Given the description of an element on the screen output the (x, y) to click on. 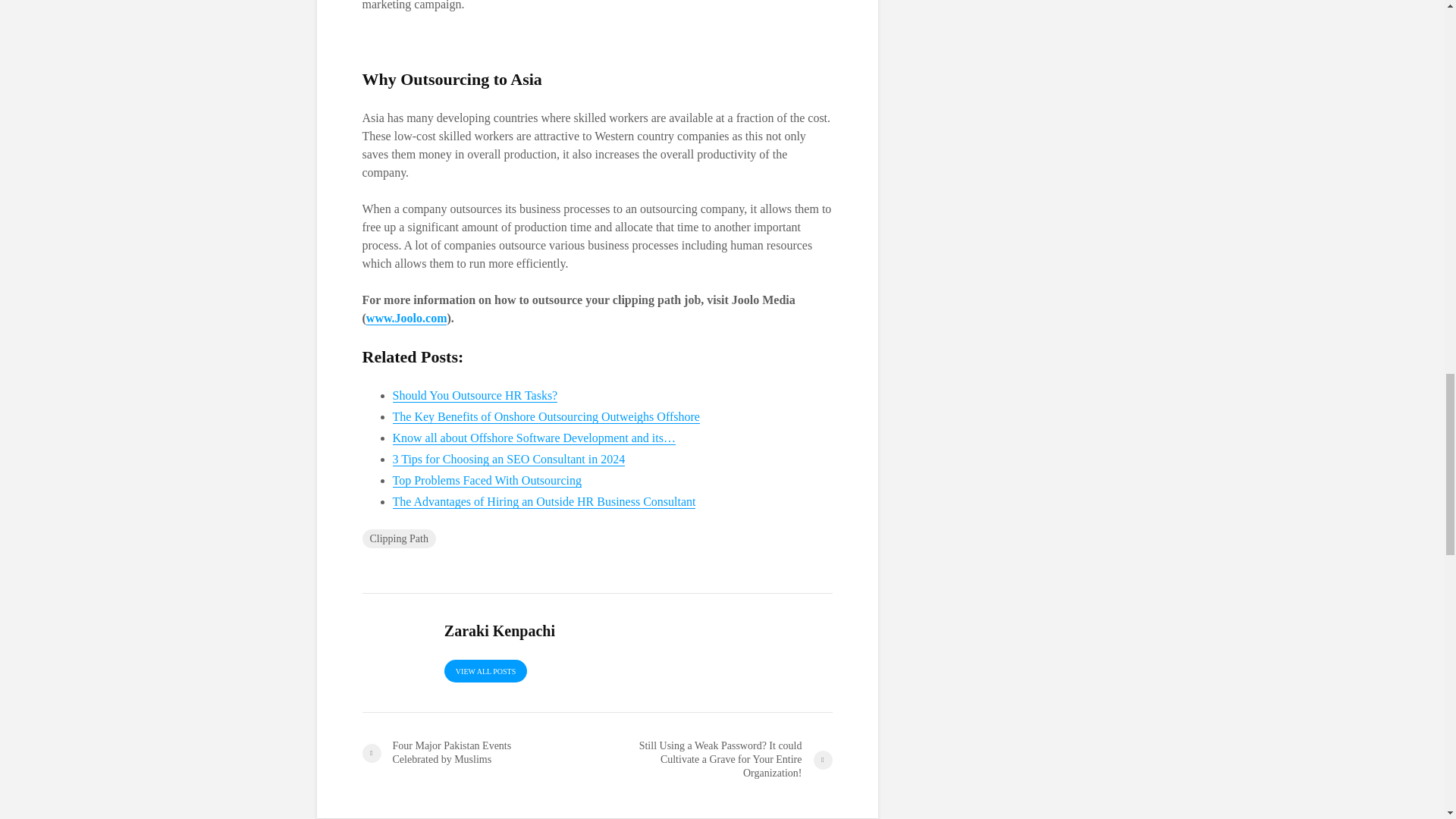
The Advantages of Hiring an Outside HR Business Consultant (544, 501)
Four Major Pakistan Events Celebrated by Muslims (479, 752)
www.Joolo.com (406, 318)
The Key Benefits of Onshore Outsourcing Outweighs Offshore (546, 417)
3 Tips for Choosing an SEO Consultant in 2024 (509, 459)
Top Problems Faced With Outsourcing (486, 480)
Should You Outsource HR Tasks? (475, 395)
Clipping Path (398, 538)
VIEW ALL POSTS (485, 671)
